Given the description of an element on the screen output the (x, y) to click on. 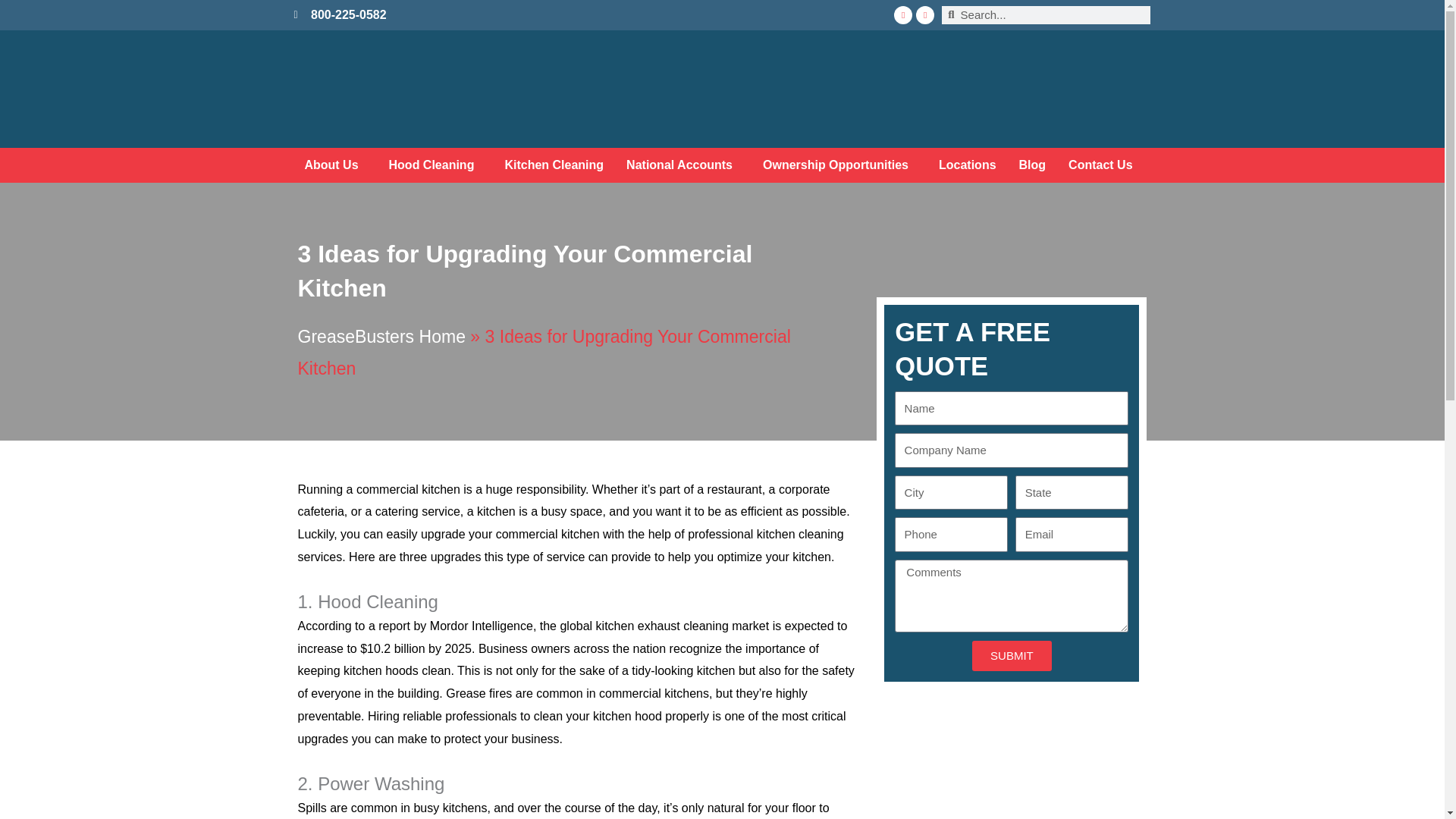
Kitchen Cleaning (553, 165)
National Accounts (682, 165)
Hood Cleaning (435, 165)
Contact Us (1104, 165)
800-225-0582 (398, 15)
Twitter (924, 14)
About Us (334, 165)
Facebook (902, 14)
Ownership Opportunities (839, 165)
Locations (967, 165)
Blog (1032, 165)
